Given the description of an element on the screen output the (x, y) to click on. 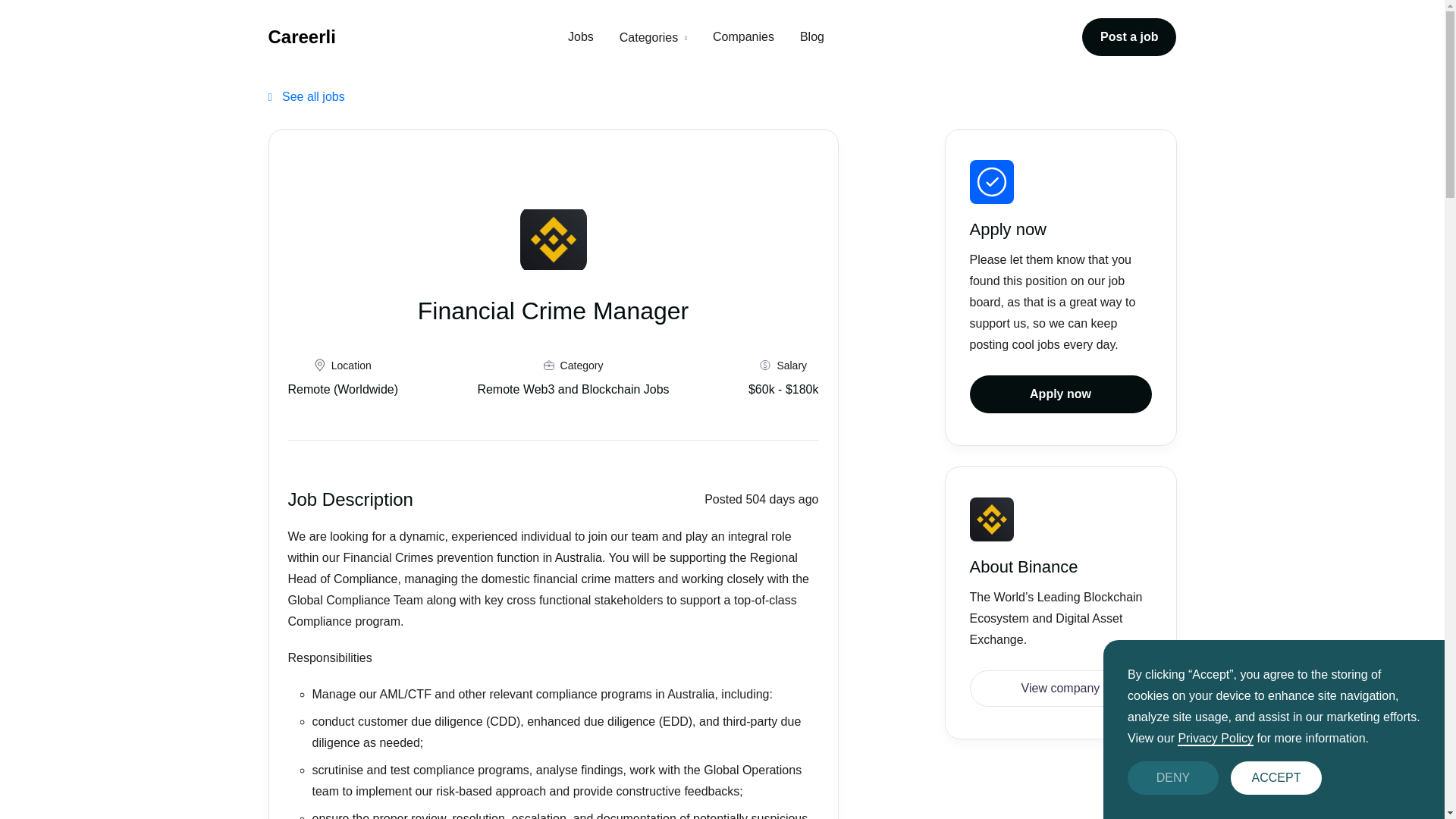
View company (1060, 688)
Jobs (580, 36)
Post a job (1128, 37)
Careerli (301, 36)
Apply now (1060, 394)
Blog (811, 36)
Companies (743, 36)
